Given the description of an element on the screen output the (x, y) to click on. 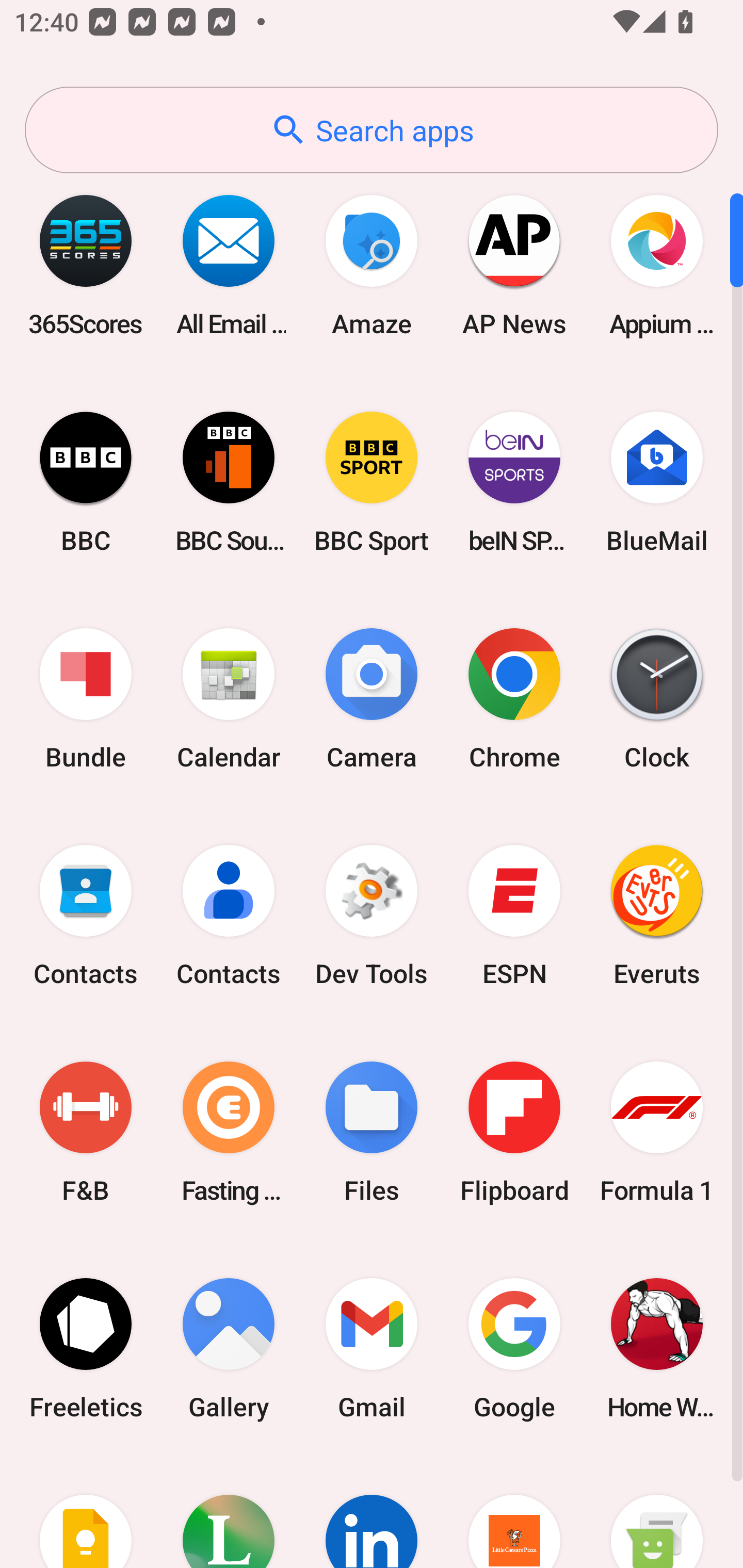
  Search apps (371, 130)
365Scores (85, 264)
All Email Connect (228, 264)
Amaze (371, 264)
AP News (514, 264)
Appium Settings (656, 264)
BBC (85, 482)
BBC Sounds (228, 482)
BBC Sport (371, 482)
beIN SPORTS (514, 482)
BlueMail (656, 482)
Bundle (85, 699)
Calendar (228, 699)
Camera (371, 699)
Chrome (514, 699)
Clock (656, 699)
Contacts (85, 915)
Contacts (228, 915)
Dev Tools (371, 915)
ESPN (514, 915)
Everuts (656, 915)
F&B (85, 1131)
Fasting Coach (228, 1131)
Files (371, 1131)
Flipboard (514, 1131)
Formula 1 (656, 1131)
Freeletics (85, 1348)
Gallery (228, 1348)
Gmail (371, 1348)
Google (514, 1348)
Home Workout (656, 1348)
Keep Notes (85, 1512)
Lifesum (228, 1512)
LinkedIn (371, 1512)
Little Caesars Pizza (514, 1512)
Messaging (656, 1512)
